Given the description of an element on the screen output the (x, y) to click on. 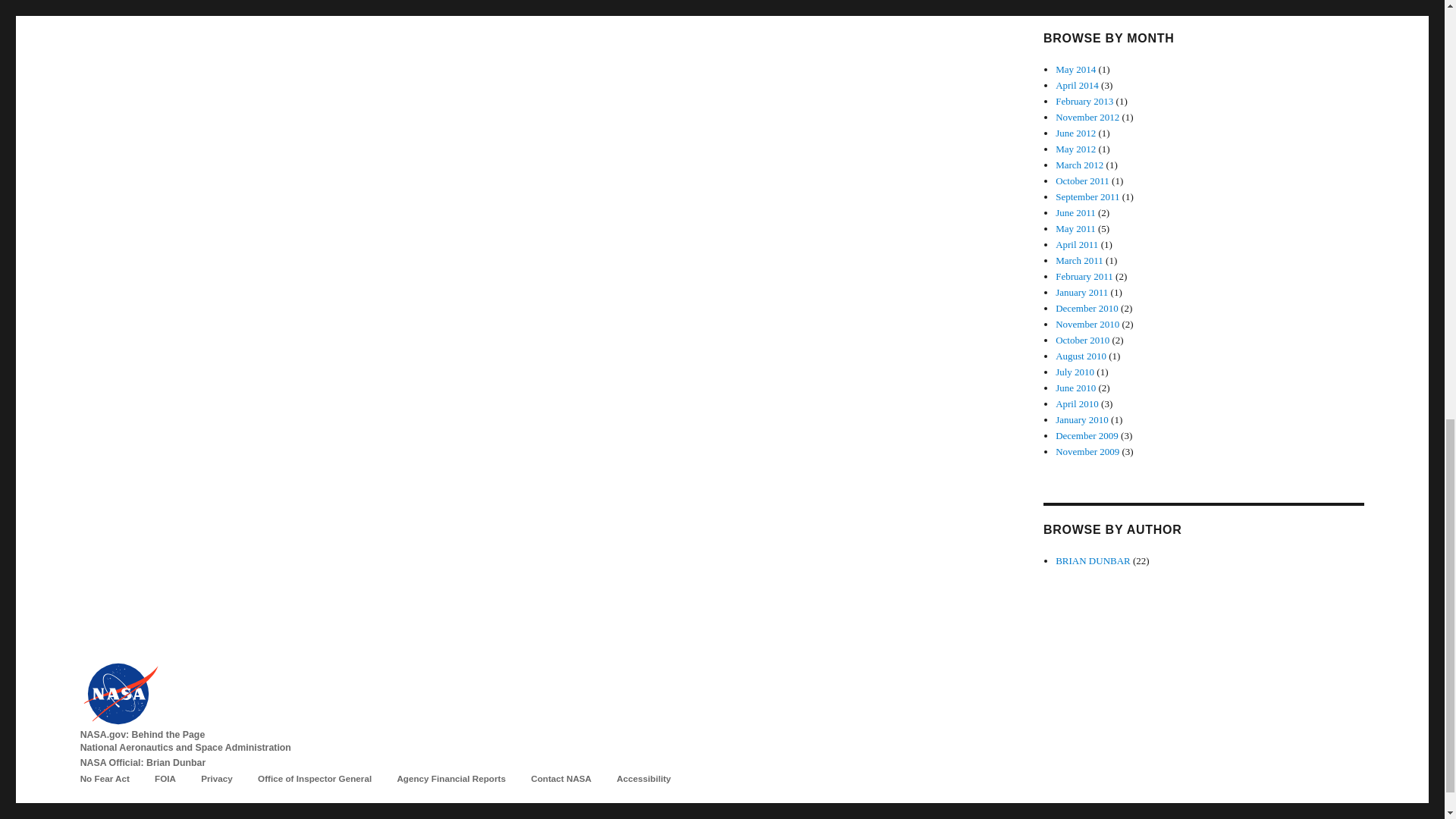
November 2012 (1087, 116)
February 2013 (1084, 101)
Posts by Brian Dunbar (1093, 560)
April 2014 (1077, 84)
May 2014 (1075, 69)
June 2012 (1075, 132)
